Given the description of an element on the screen output the (x, y) to click on. 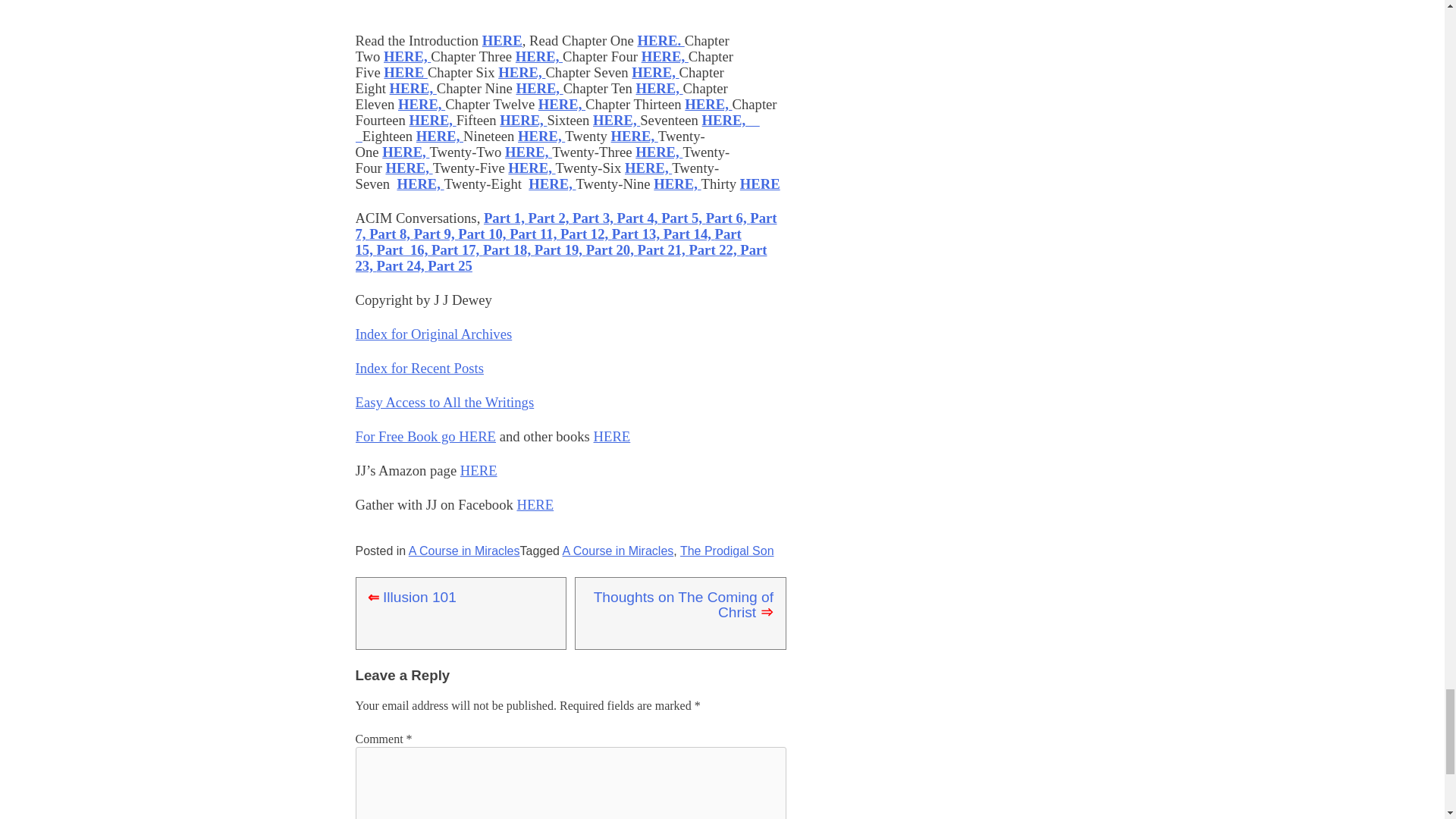
HERE,  (665, 56)
HERE,  (439, 135)
HERE,  (538, 56)
HERE,  (658, 88)
HERE,  (528, 151)
HERE,        (556, 128)
HERE,  (658, 151)
HERE,  (413, 88)
HERE (501, 40)
HERE,  (561, 104)
HERE,  (432, 119)
HERE,  (421, 104)
HERE.  (660, 40)
HERE,  (708, 104)
HERE,  (408, 167)
